Given the description of an element on the screen output the (x, y) to click on. 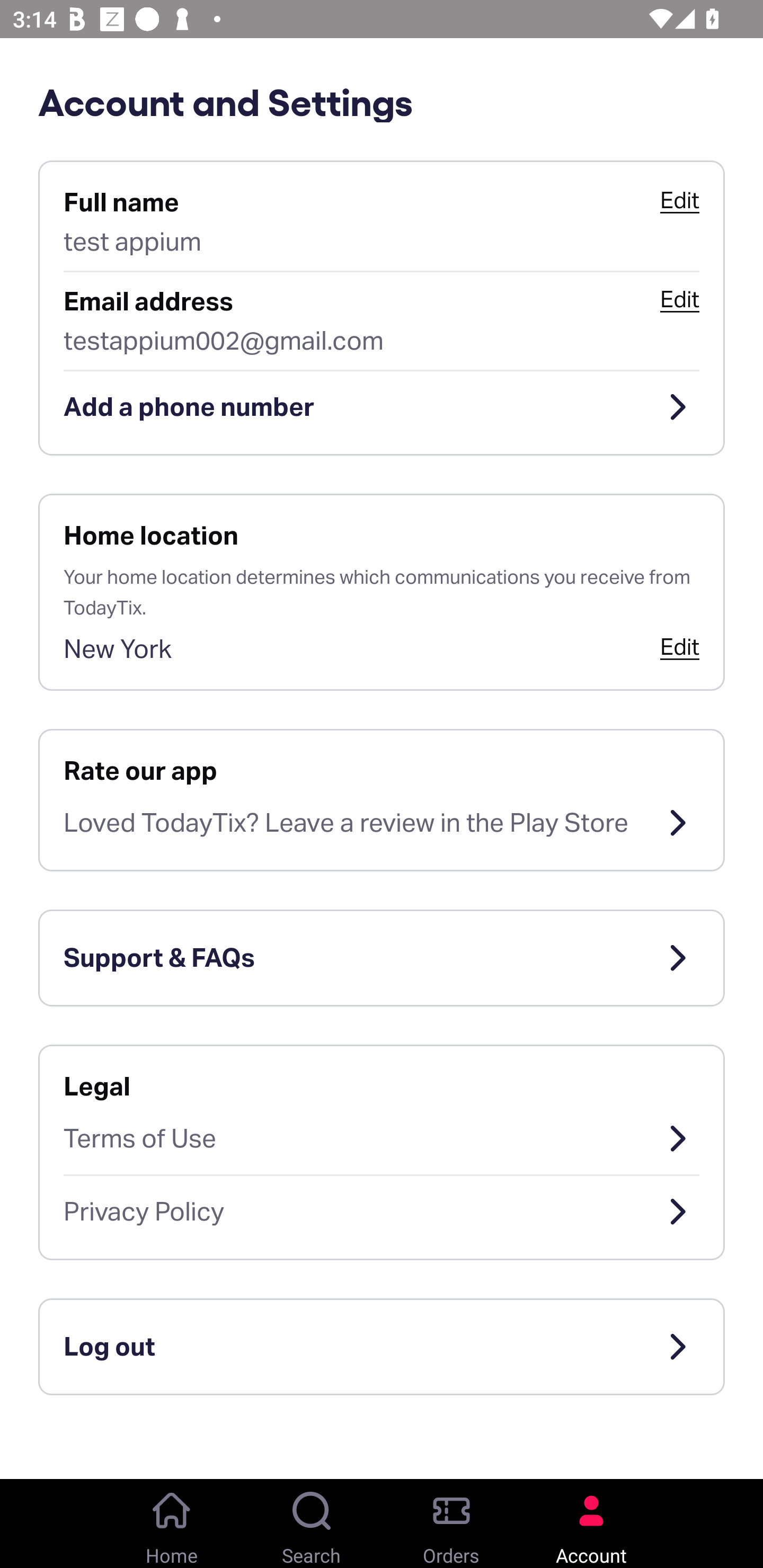
Edit (679, 200)
Edit (679, 299)
Add a phone number (381, 406)
Edit (679, 646)
Loved TodayTix? Leave a review in the Play Store (381, 822)
Support & FAQs (381, 957)
Terms of Use (381, 1137)
Privacy Policy (381, 1211)
Log out (381, 1346)
Home (171, 1523)
Search (311, 1523)
Orders (451, 1523)
